Given the description of an element on the screen output the (x, y) to click on. 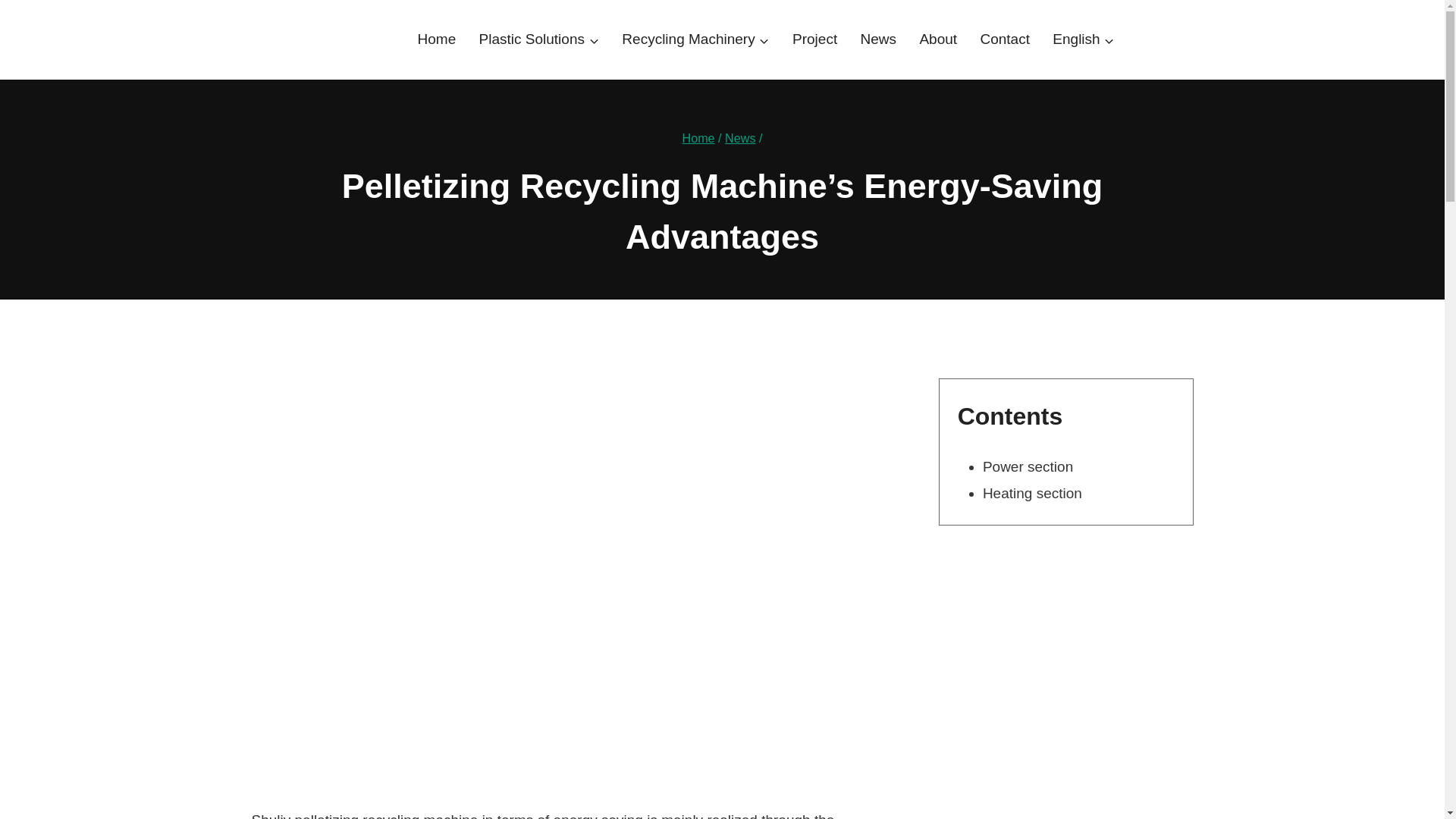
Home (698, 137)
Home (436, 39)
Plastic Solutions (538, 39)
Power section (1027, 466)
News (740, 137)
Heating section (1031, 493)
English (1083, 39)
Recycling Machinery (695, 39)
Project (814, 39)
Contact (1004, 39)
